Given the description of an element on the screen output the (x, y) to click on. 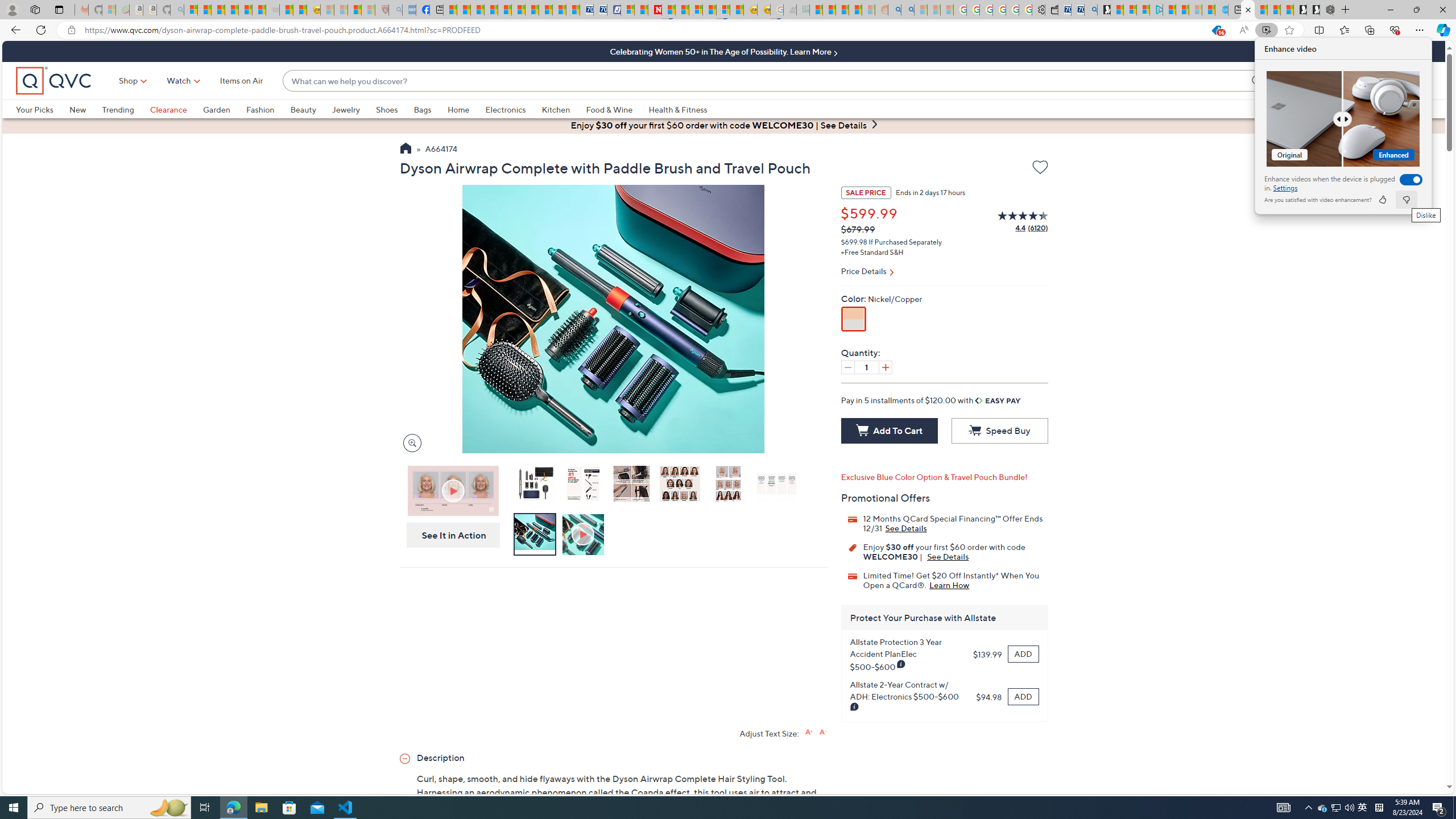
Combat Siege - Sleeping (271, 9)
